Given the description of an element on the screen output the (x, y) to click on. 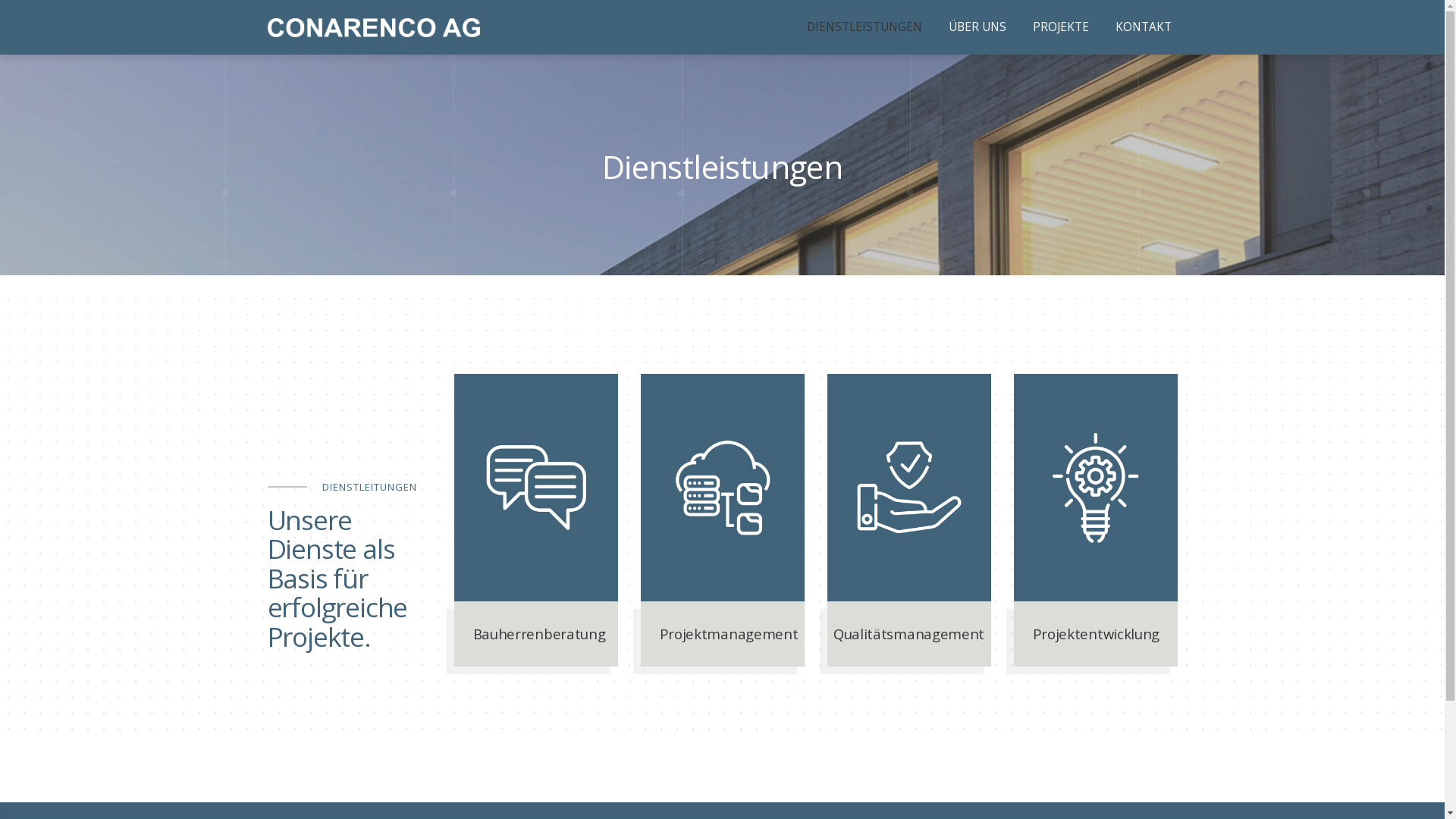
DIENSTLEISTUNGEN Element type: text (864, 27)
Projektentwicklung Element type: text (1094, 519)
PROJEKTE Element type: text (1060, 27)
Bauherrenberatung Element type: text (535, 519)
KONTAKT Element type: text (1142, 27)
Projektmanagement Element type: text (721, 519)
